Given the description of an element on the screen output the (x, y) to click on. 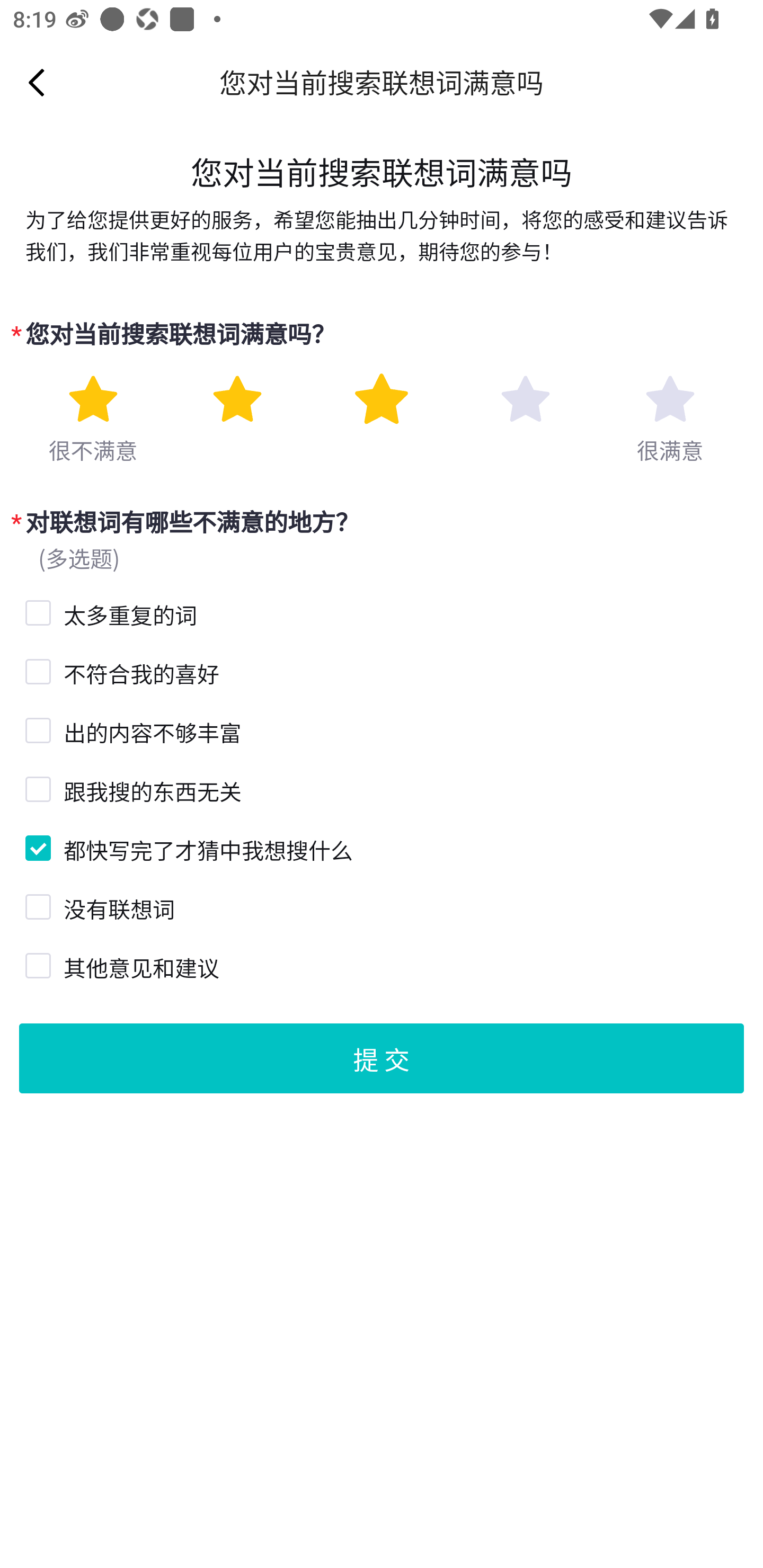
Navigate up (36, 82)
star star (381, 399)
star star (92, 399)
star star (237, 399)
star star (524, 399)
star star (669, 399)
太多重复的词   (36, 610)
不符合我的喜好   (36, 670)
出的内容不够丰富   (36, 728)
跟我搜的东西无关   (36, 787)
都快写完了才猜中我想搜什么   (36, 845)
没有联想词   (36, 905)
其他意见和建议   (36, 963)
提 交 (381, 1057)
